Given the description of an element on the screen output the (x, y) to click on. 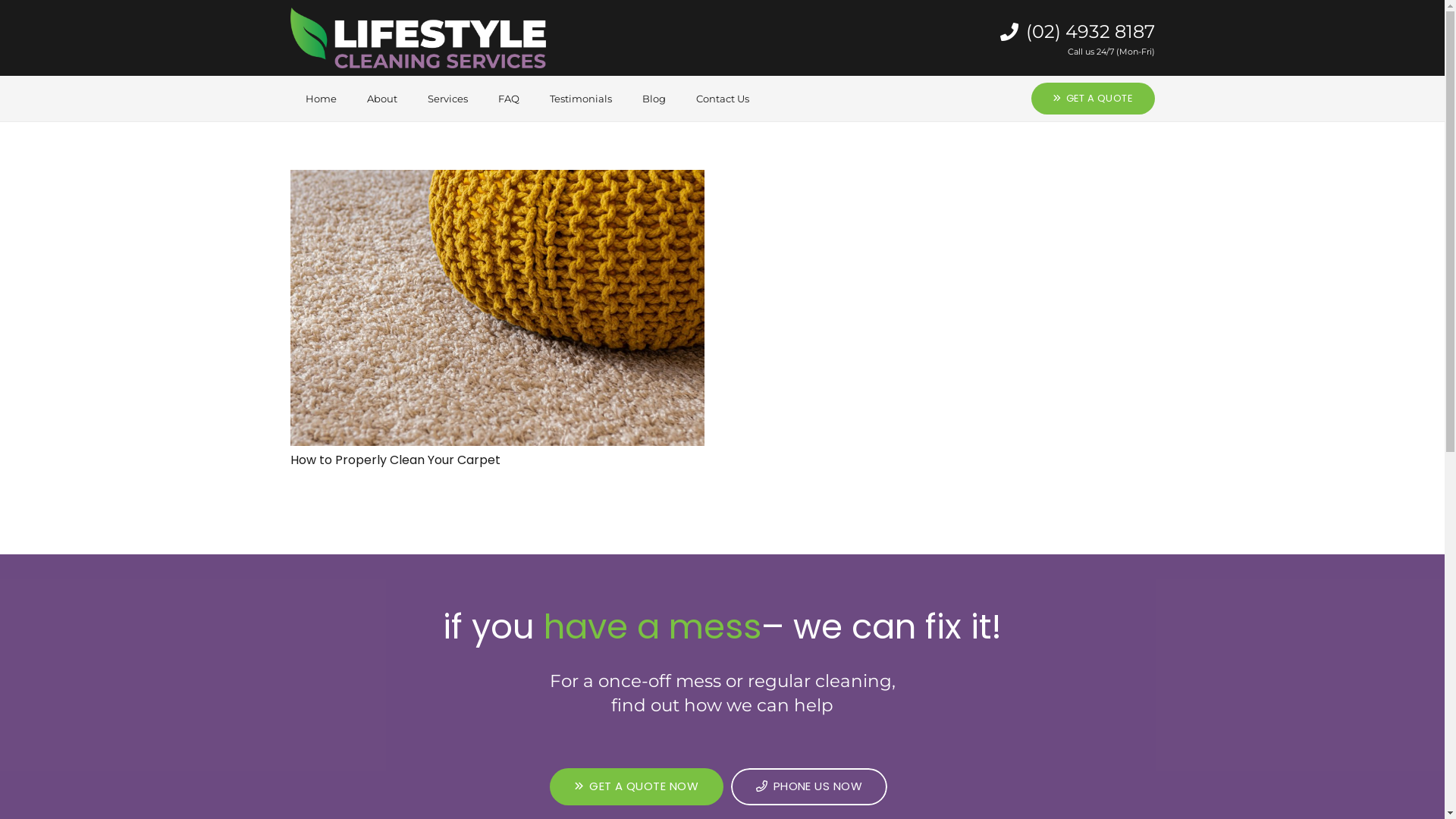
Services Element type: text (447, 98)
GET A QUOTE Element type: text (1092, 98)
(02) 4932 8187 Element type: text (1077, 31)
About Element type: text (381, 98)
Contact Us Element type: text (722, 98)
PHONE US NOW Element type: text (809, 787)
FAQ Element type: text (507, 98)
Testimonials Element type: text (579, 98)
GET A QUOTE NOW Element type: text (636, 787)
Home Element type: text (320, 98)
How to Properly Clean Your Carpet Element type: text (394, 459)
Blog Element type: text (653, 98)
